Given the description of an element on the screen output the (x, y) to click on. 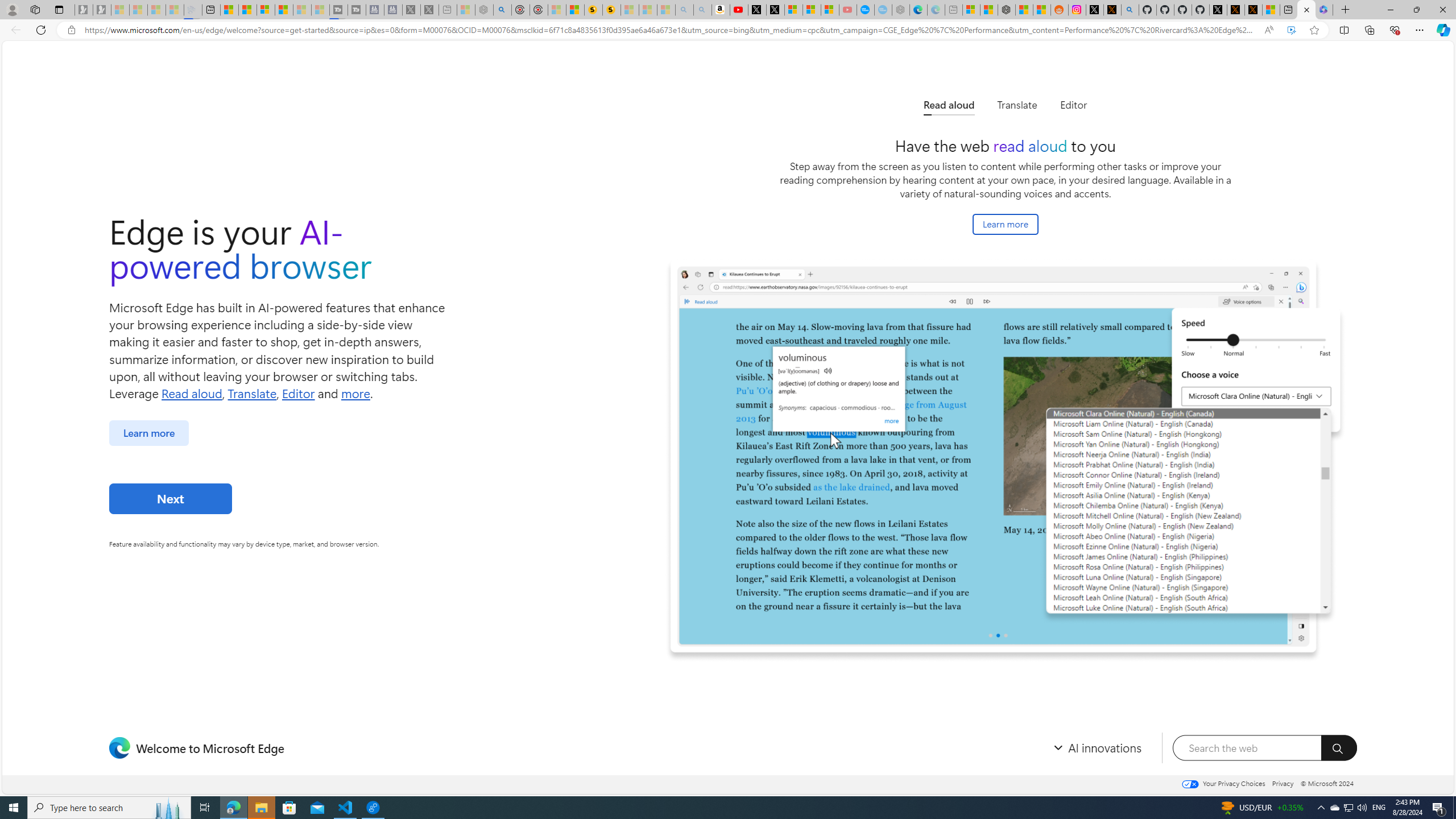
Address and search bar (669, 29)
github - Search (1130, 9)
Login | Microsoft 365 (1324, 9)
Microsoft Start - Sleeping (301, 9)
Profile / X (1217, 9)
Day 1: Arriving in Yemen (surreal to be here) - YouTube (738, 9)
